Given the description of an element on the screen output the (x, y) to click on. 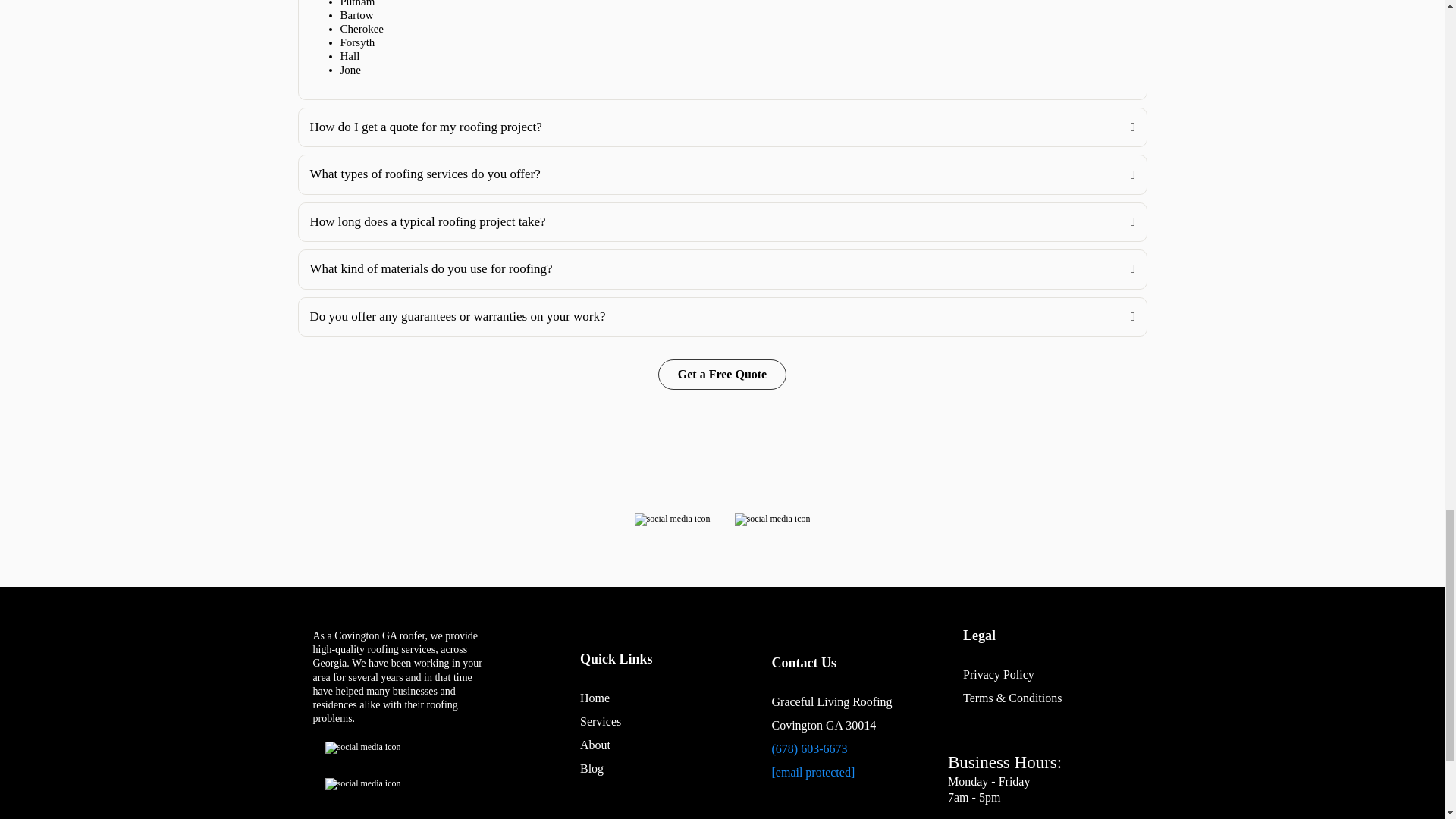
Services (600, 721)
About (594, 744)
Blog (591, 768)
Get a Free Quote (722, 374)
Privacy Policy (997, 674)
Home (594, 697)
